Given the description of an element on the screen output the (x, y) to click on. 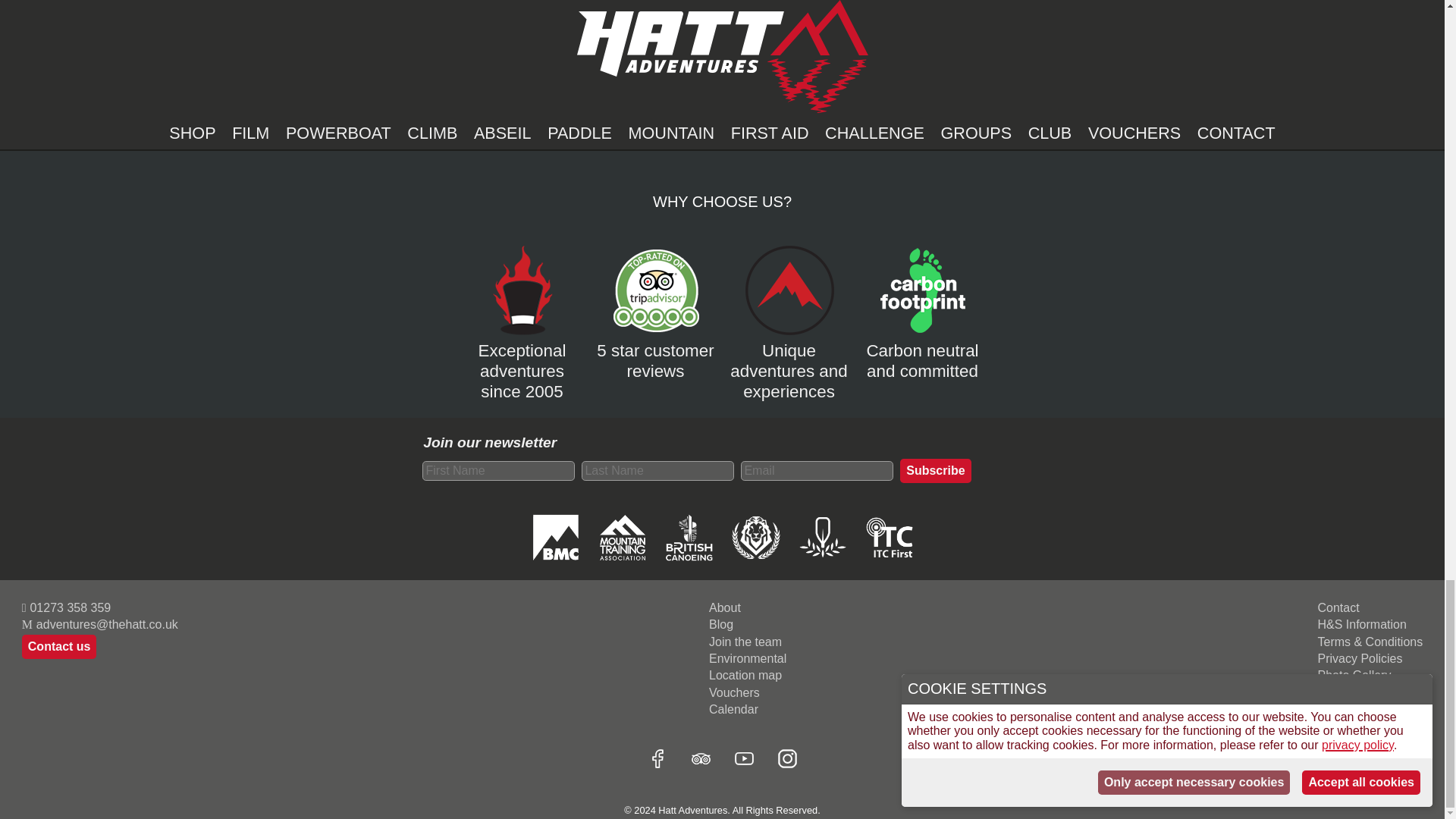
Find out more about the British Stunt Register (754, 539)
Check out our outdoor adventure blog (747, 624)
Subscribe (935, 470)
Find out more about the British Mountaineering Council (555, 539)
Call us (99, 607)
We specialise in unique adventures and experiences (788, 361)
Email us (99, 624)
We've been creating exceptional adventures since 2005 (521, 361)
